Given the description of an element on the screen output the (x, y) to click on. 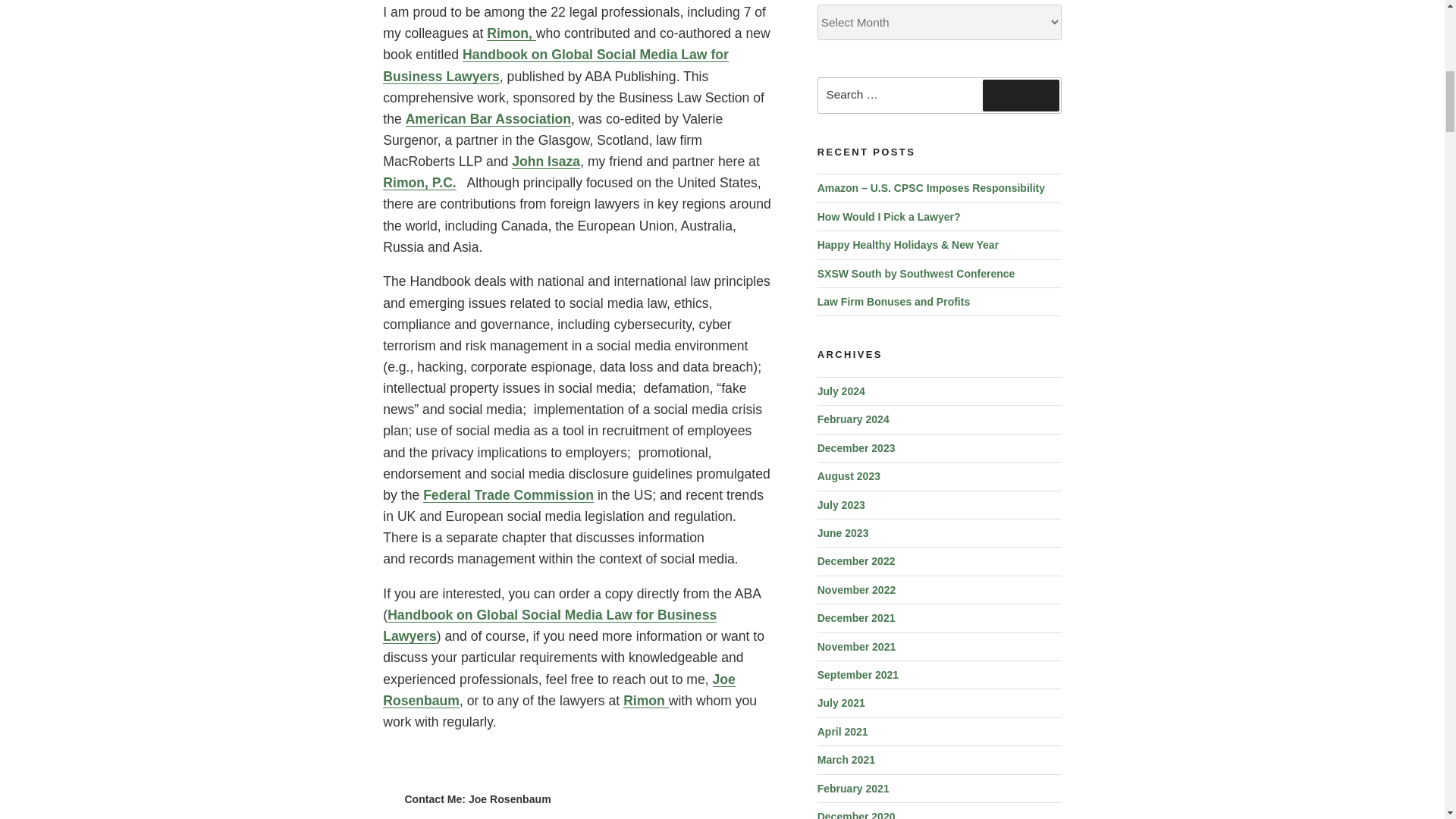
Handbook on Global Social Media Law for Business Lawyers (555, 64)
American Bar Association (488, 118)
John Isaza (545, 160)
Joe Rosenbaum (558, 689)
Rimon,  (510, 32)
Rimon (645, 700)
Handbook on Global Social Media Law for Business Lawyers (549, 625)
Federal Trade Commission (508, 494)
Rimon, P.C. (418, 182)
Contact Me: Joe Rosenbaum (477, 799)
